Given the description of an element on the screen output the (x, y) to click on. 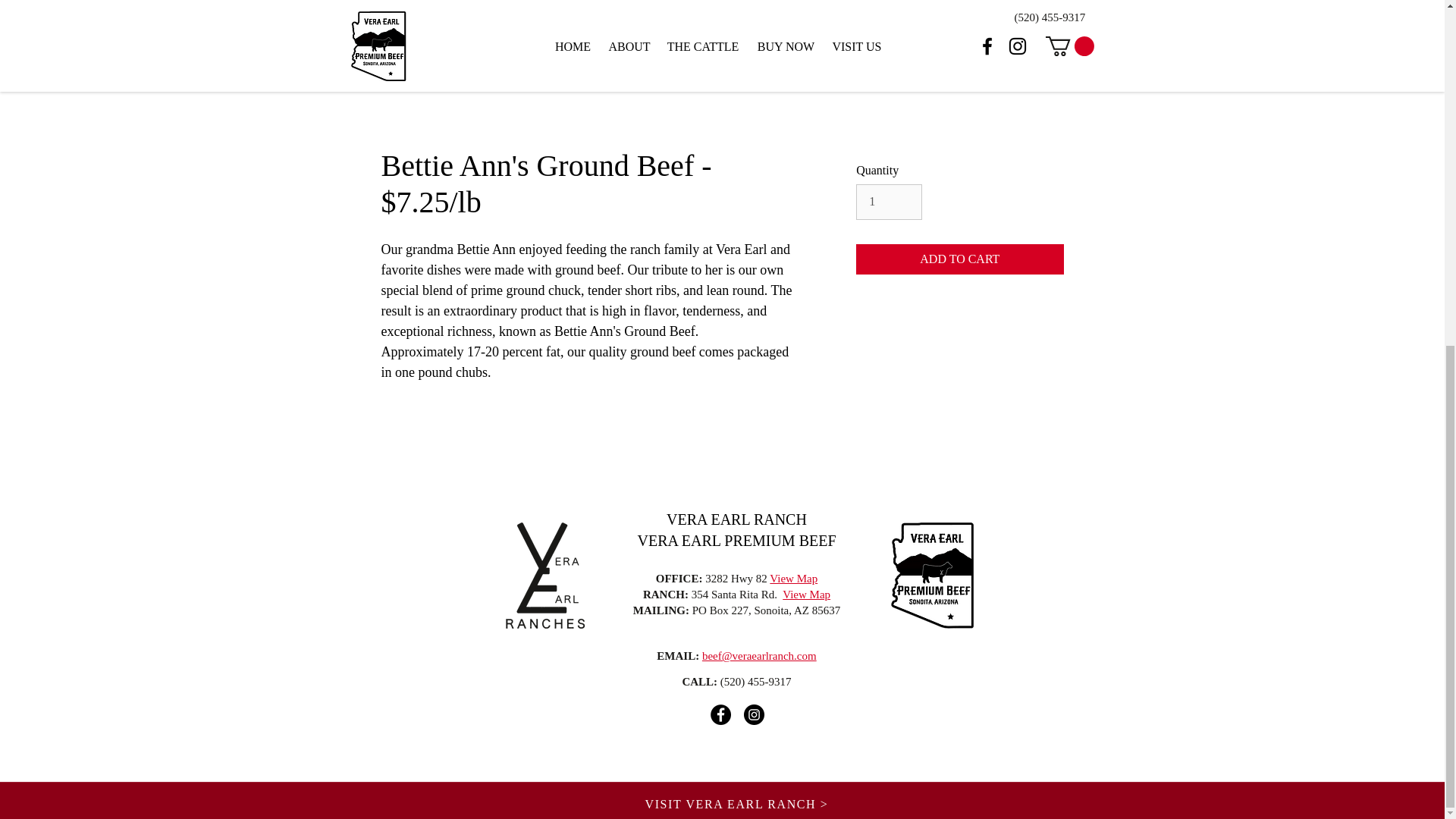
1 (888, 201)
CALL: (699, 681)
ADD TO CART (959, 259)
View Map (806, 594)
View Map (793, 578)
